Given the description of an element on the screen output the (x, y) to click on. 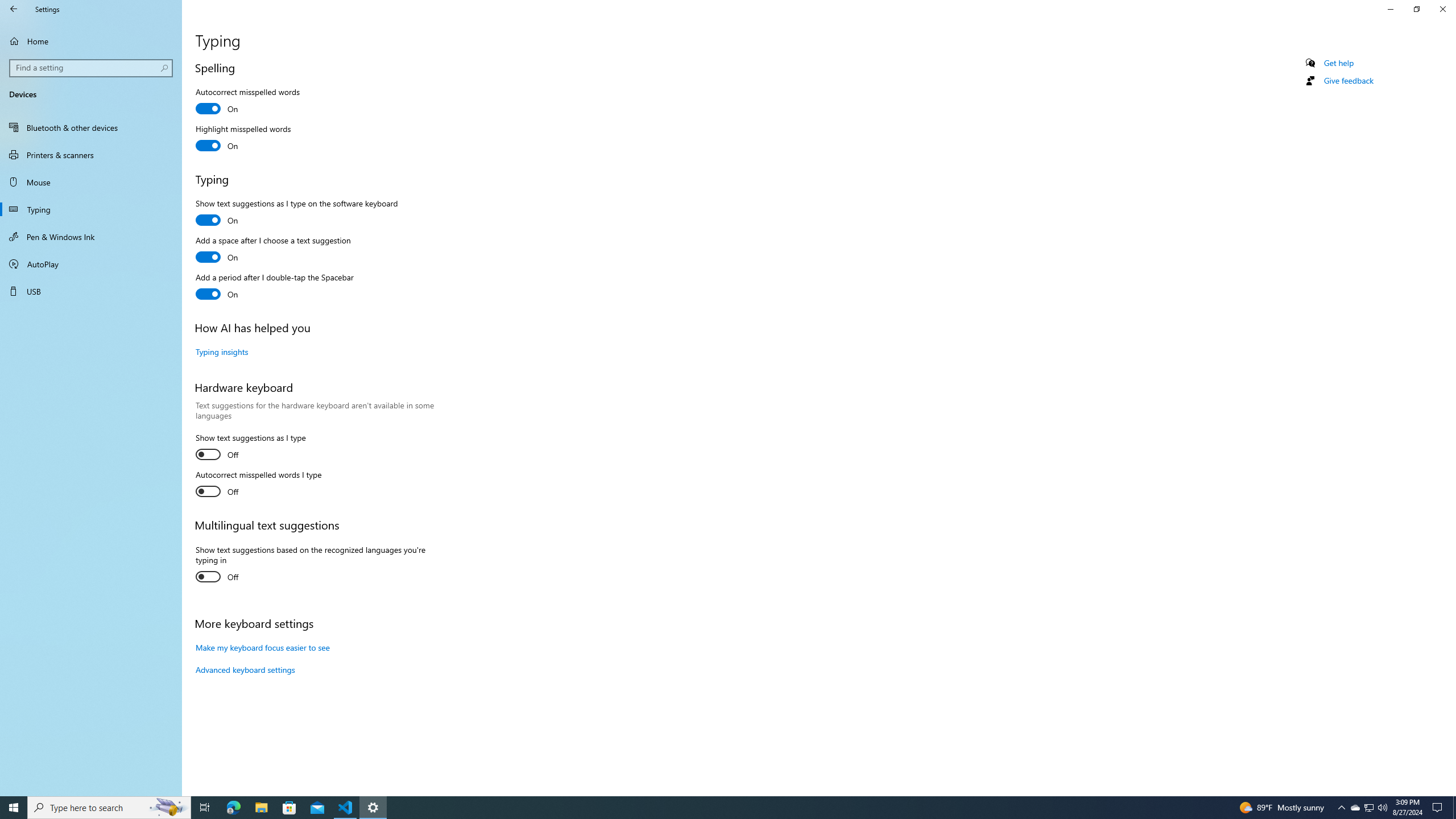
Show text suggestions as I type on the software keyboard (296, 213)
Start (13, 807)
Search highlights icon opens search home window (1355, 807)
USB (167, 807)
Autocorrect misspelled words I type (91, 290)
Bluetooth & other devices (258, 484)
Minimize Settings (91, 126)
Typing insights (1390, 9)
Microsoft Edge (1368, 807)
Pen & Windows Ink (221, 351)
Highlight misspelled words (233, 807)
